Given the description of an element on the screen output the (x, y) to click on. 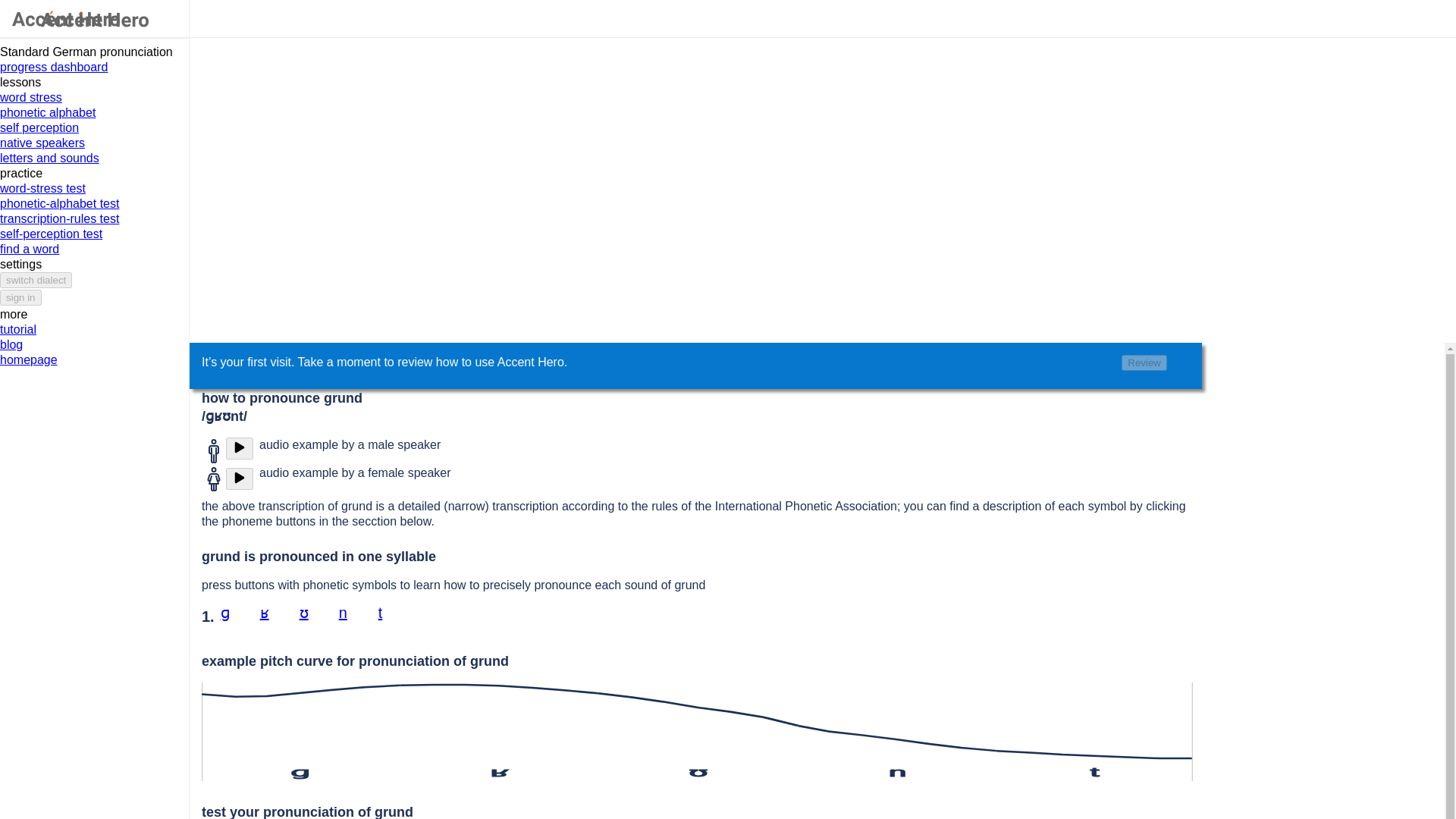
learn how to receive feedback from native speakers (94, 142)
learn the common correspondences between letters and sounds (94, 158)
Learn how to evaluate your accent (94, 127)
Learn how word stress influences your accent (94, 97)
Learn to precisely articulate each sound (94, 112)
